Given the description of an element on the screen output the (x, y) to click on. 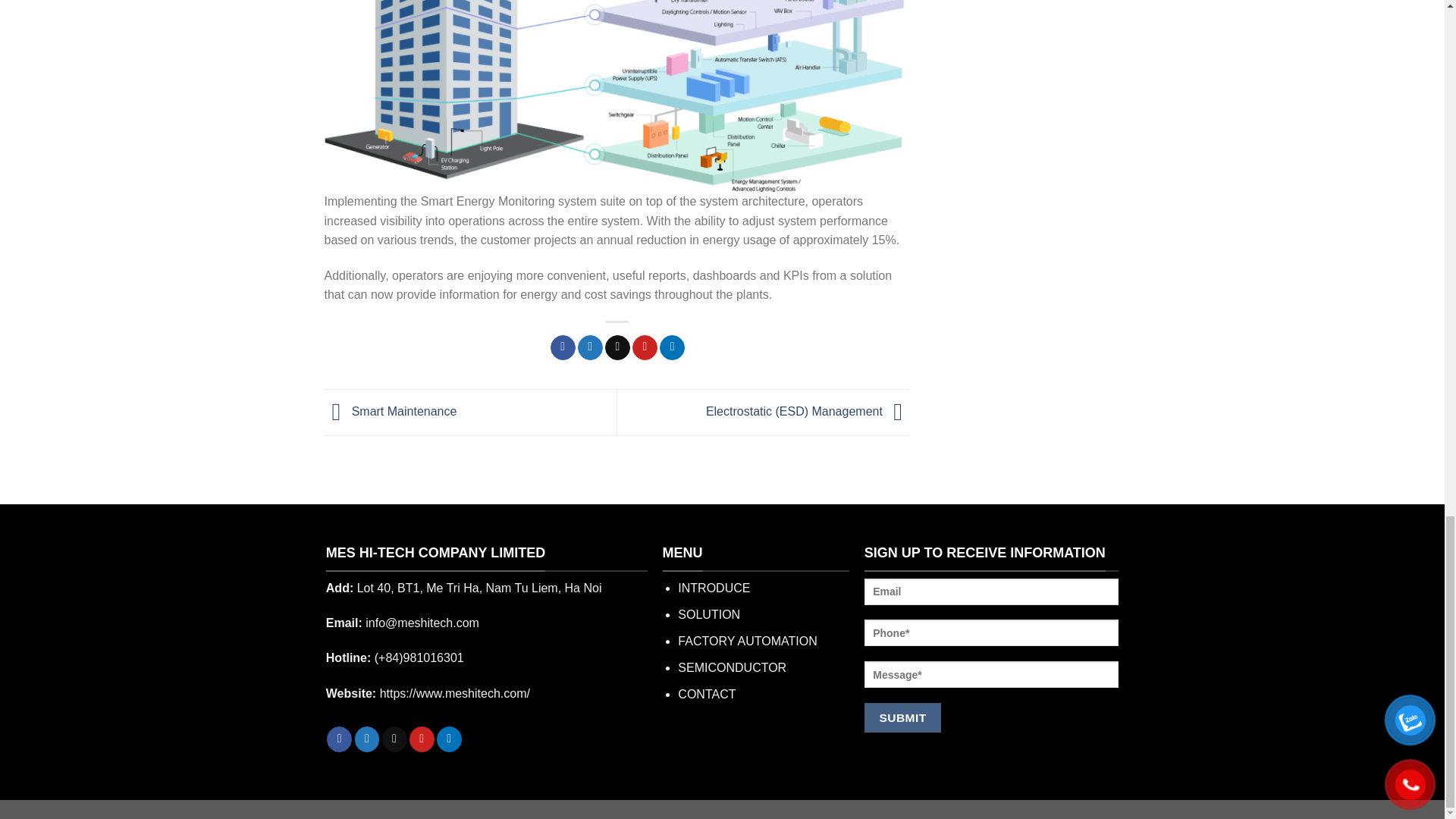
Email to a Friend (617, 347)
Share on Twitter (590, 347)
Share on LinkedIn (671, 347)
Share on Facebook (562, 347)
Submit (902, 717)
Pin on Pinterest (644, 347)
